Given the description of an element on the screen output the (x, y) to click on. 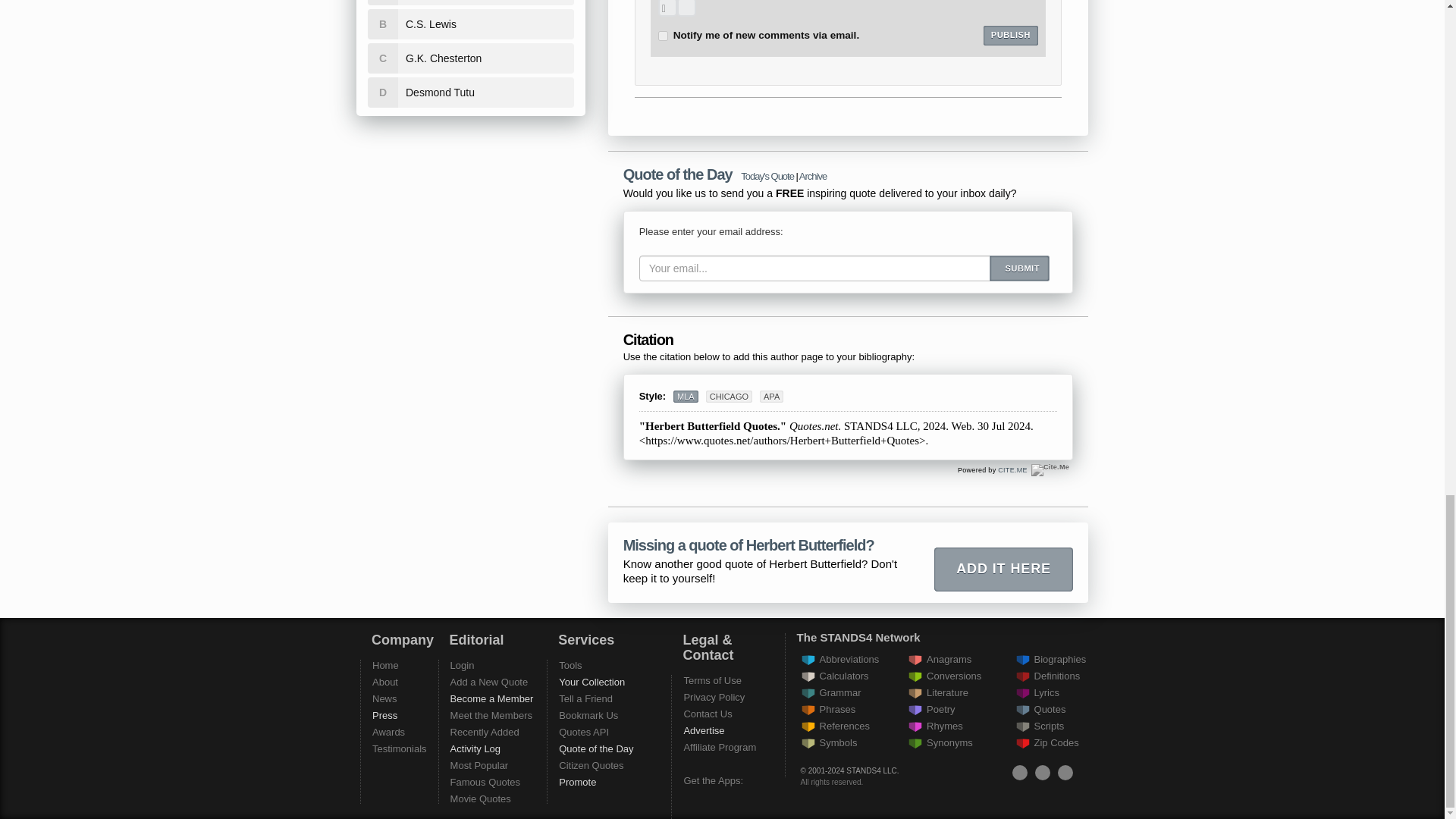
Cite.Me (1012, 470)
on (663, 35)
Upload an image (667, 8)
Cite.Me (1049, 469)
Record a sound (686, 8)
Cite.Me (1050, 469)
